Given the description of an element on the screen output the (x, y) to click on. 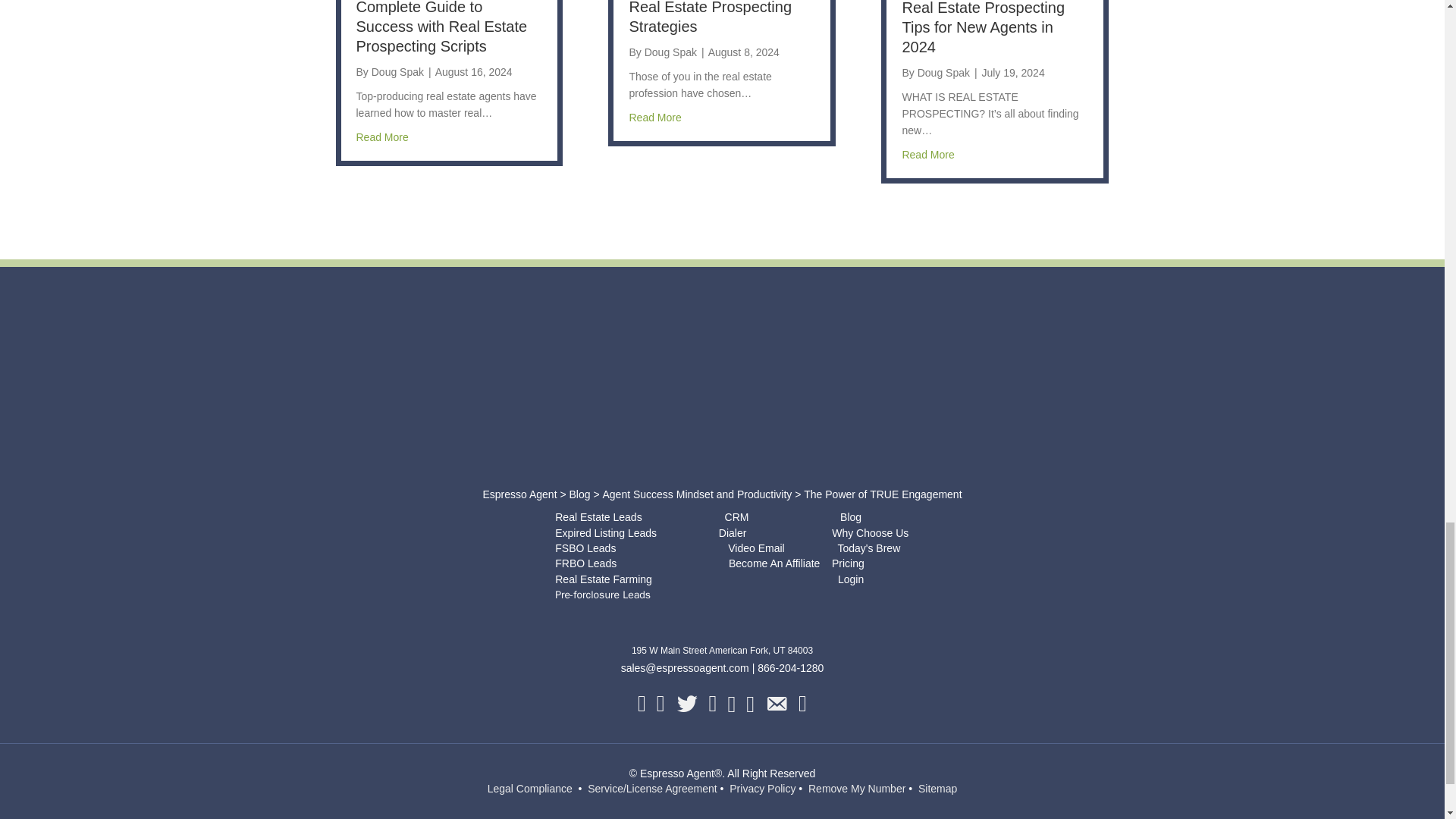
Real Estate Prospecting Strategies (710, 17)
Real Estate Prospecting Strategies (654, 117)
Real Estate Prospecting Tips for New Agents in 2024 (982, 27)
